Given the description of an element on the screen output the (x, y) to click on. 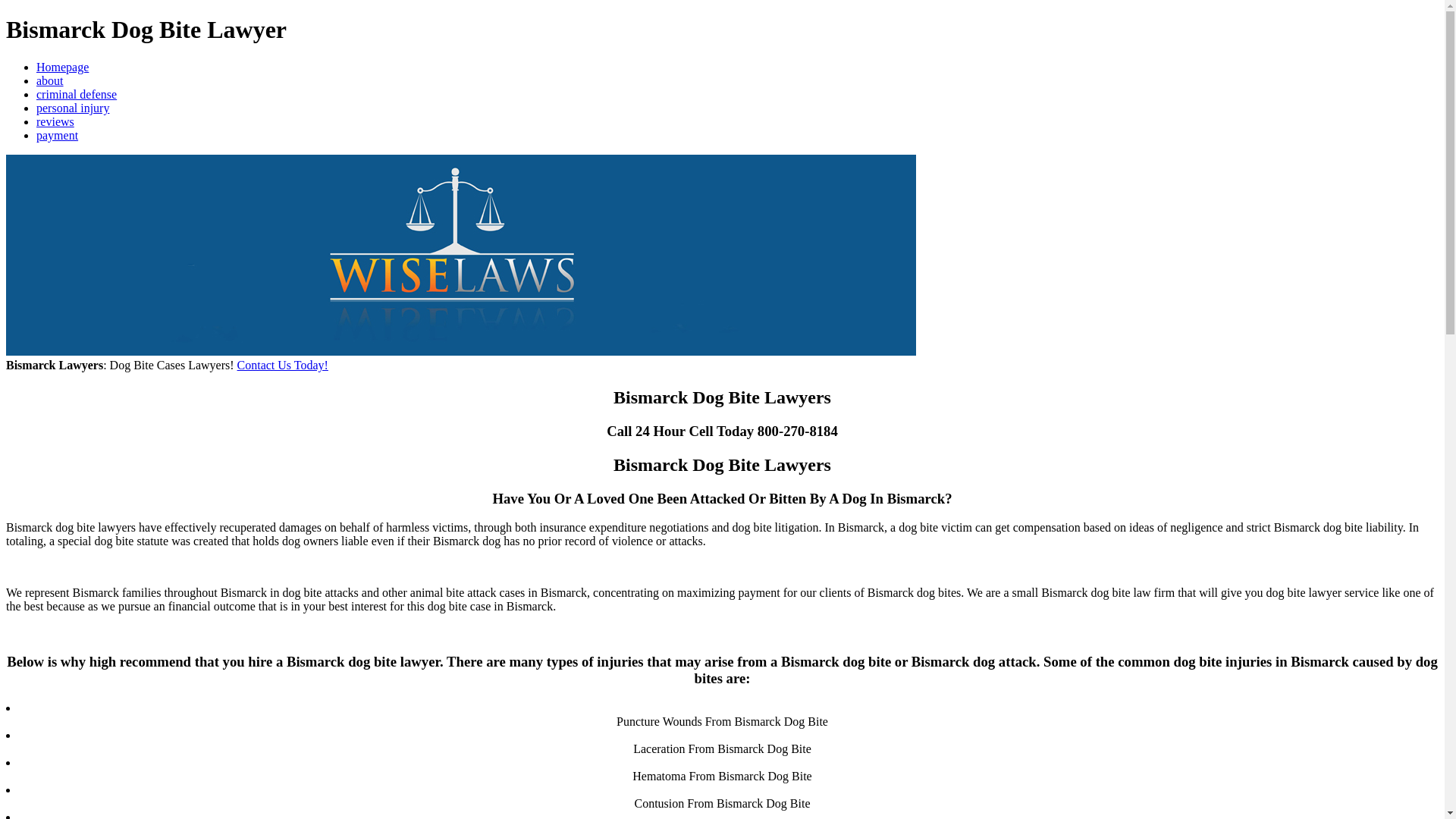
Contact Us Today! (283, 364)
reviews (55, 121)
payment (57, 134)
about (50, 80)
Homepage (62, 66)
personal injury (72, 107)
criminal defense (76, 93)
